Given the description of an element on the screen output the (x, y) to click on. 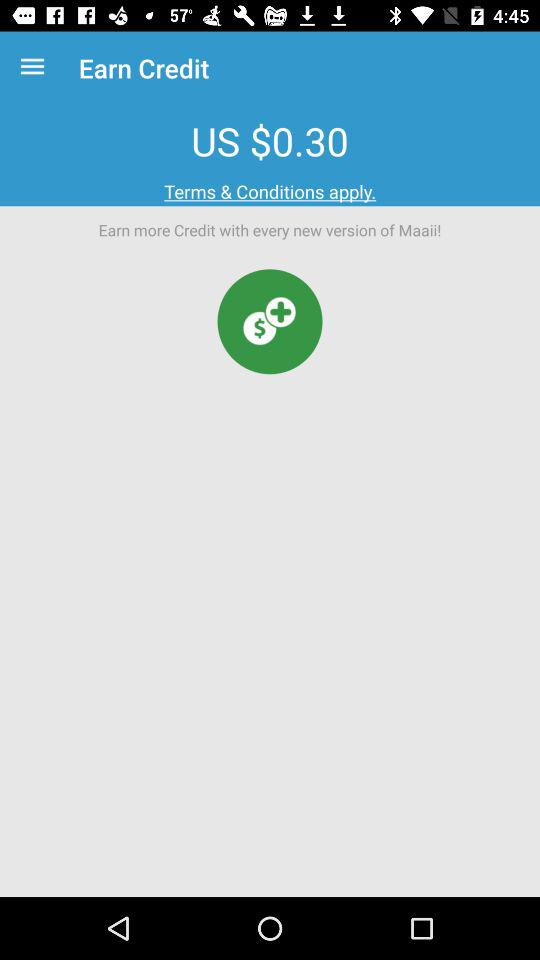
choose icon to the left of the earn credit icon (36, 68)
